Given the description of an element on the screen output the (x, y) to click on. 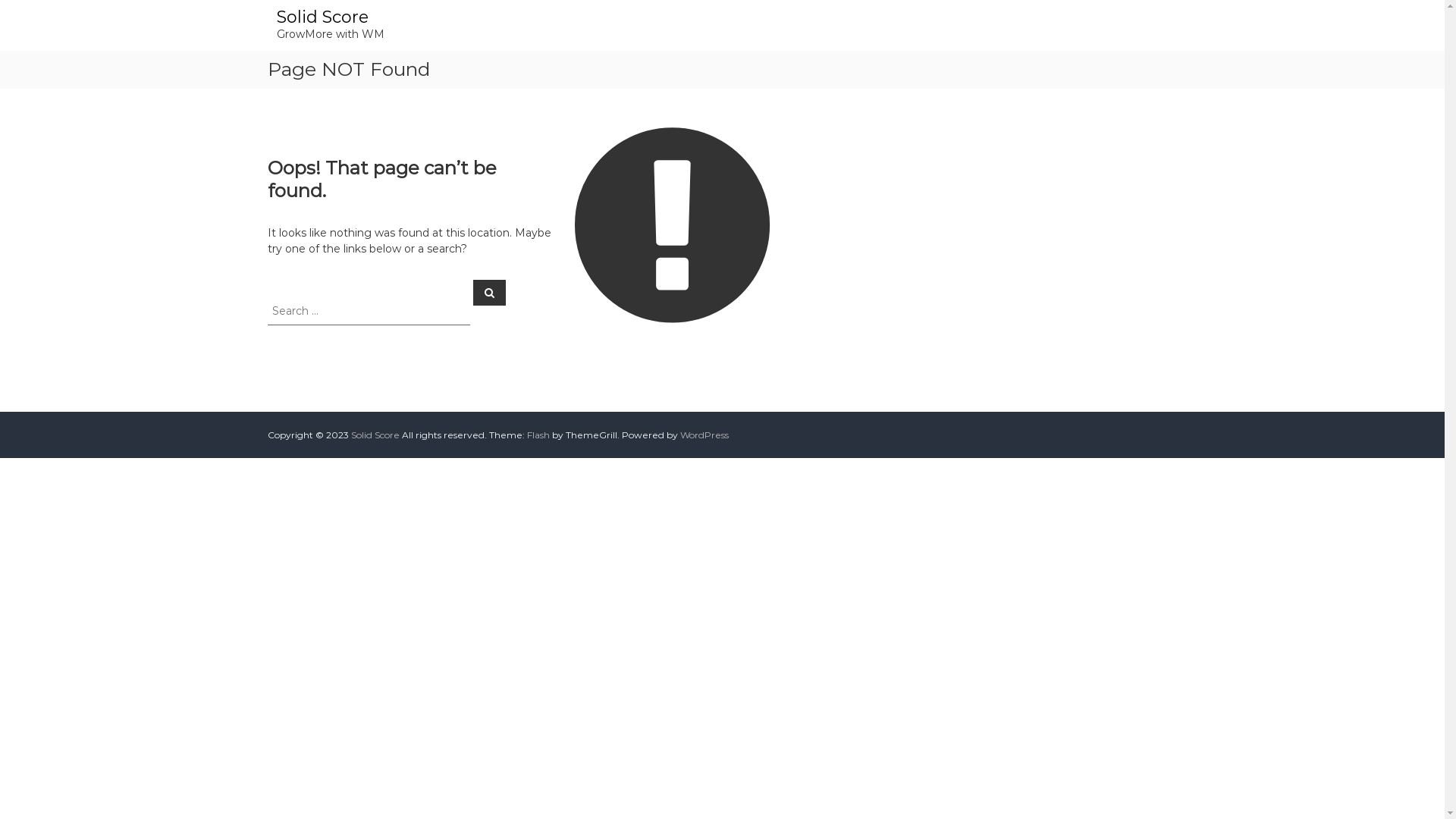
WordPress Element type: text (703, 434)
Search Element type: text (489, 291)
Solid Score Element type: text (321, 16)
Flash Element type: text (537, 434)
Solid Score Element type: text (374, 434)
